Given the description of an element on the screen output the (x, y) to click on. 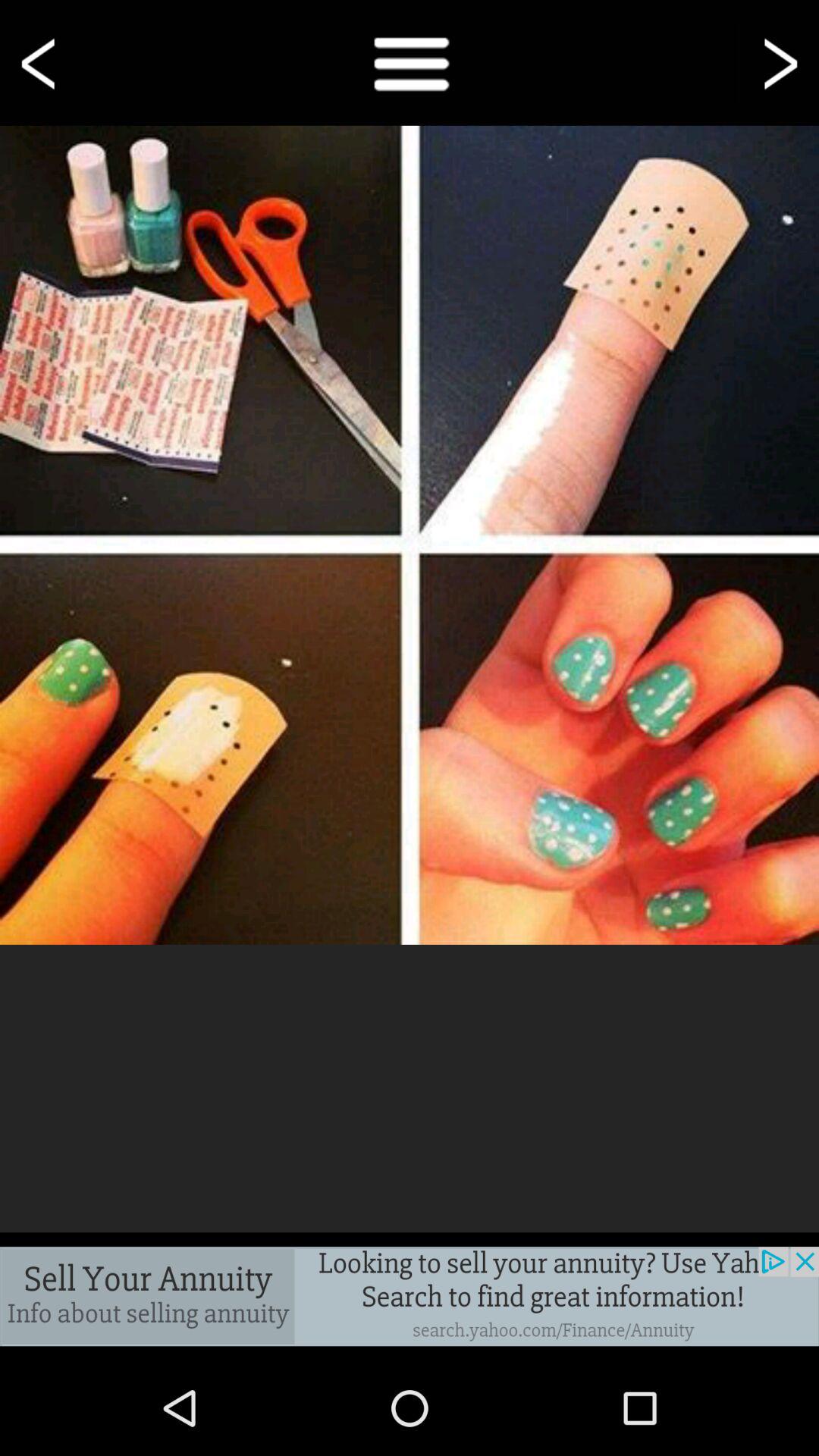
expand pictures (409, 534)
